Given the description of an element on the screen output the (x, y) to click on. 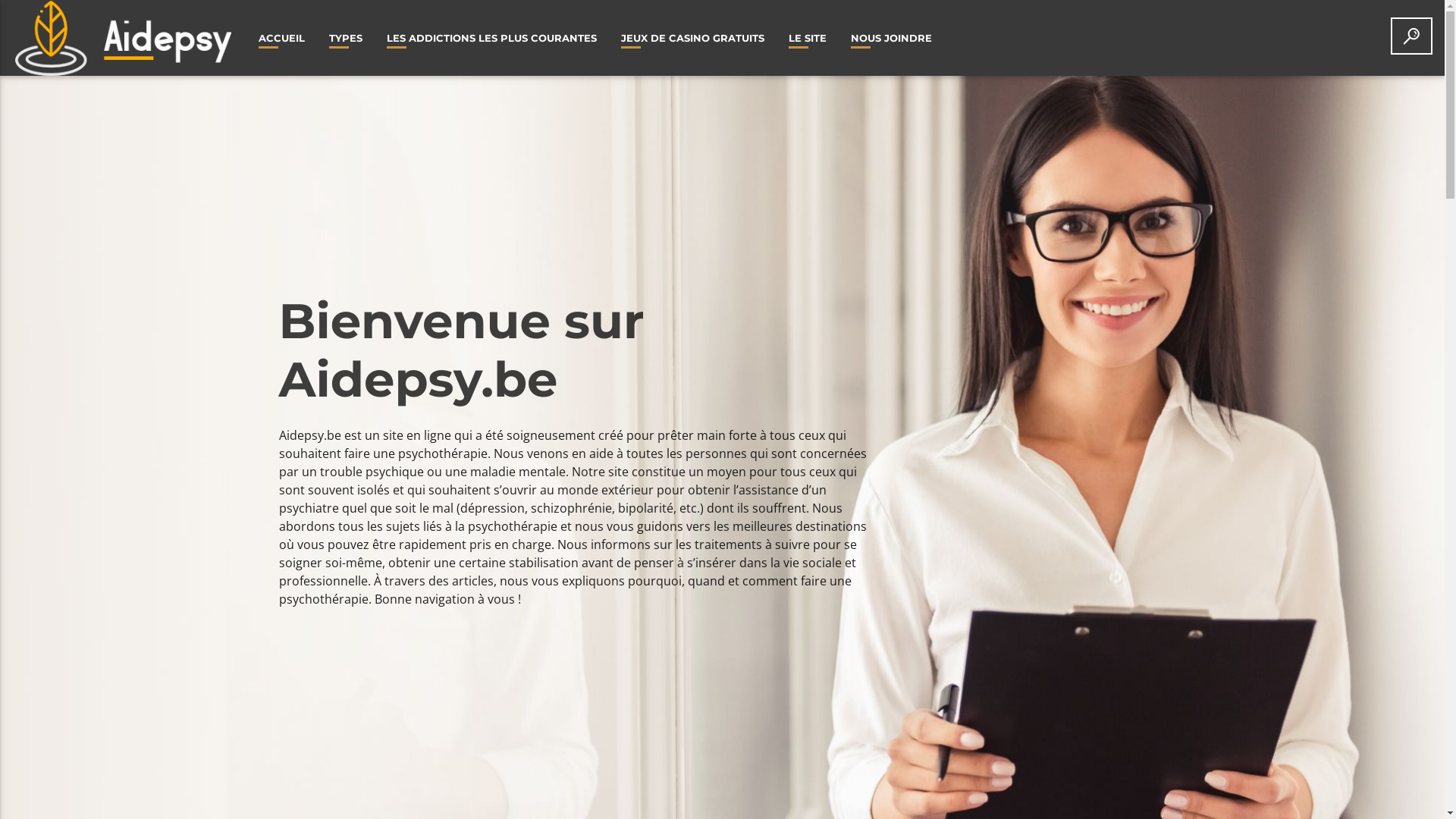
ACCUEIL Element type: text (281, 37)
LES ADDICTIONS LES PLUS COURANTES Element type: text (491, 37)
JEUX DE CASINO GRATUITS Element type: text (692, 37)
TYPES Element type: text (345, 37)
NOUS JOINDRE Element type: text (891, 37)
Search Element type: text (1227, 99)
LE SITE Element type: text (807, 37)
